Given the description of an element on the screen output the (x, y) to click on. 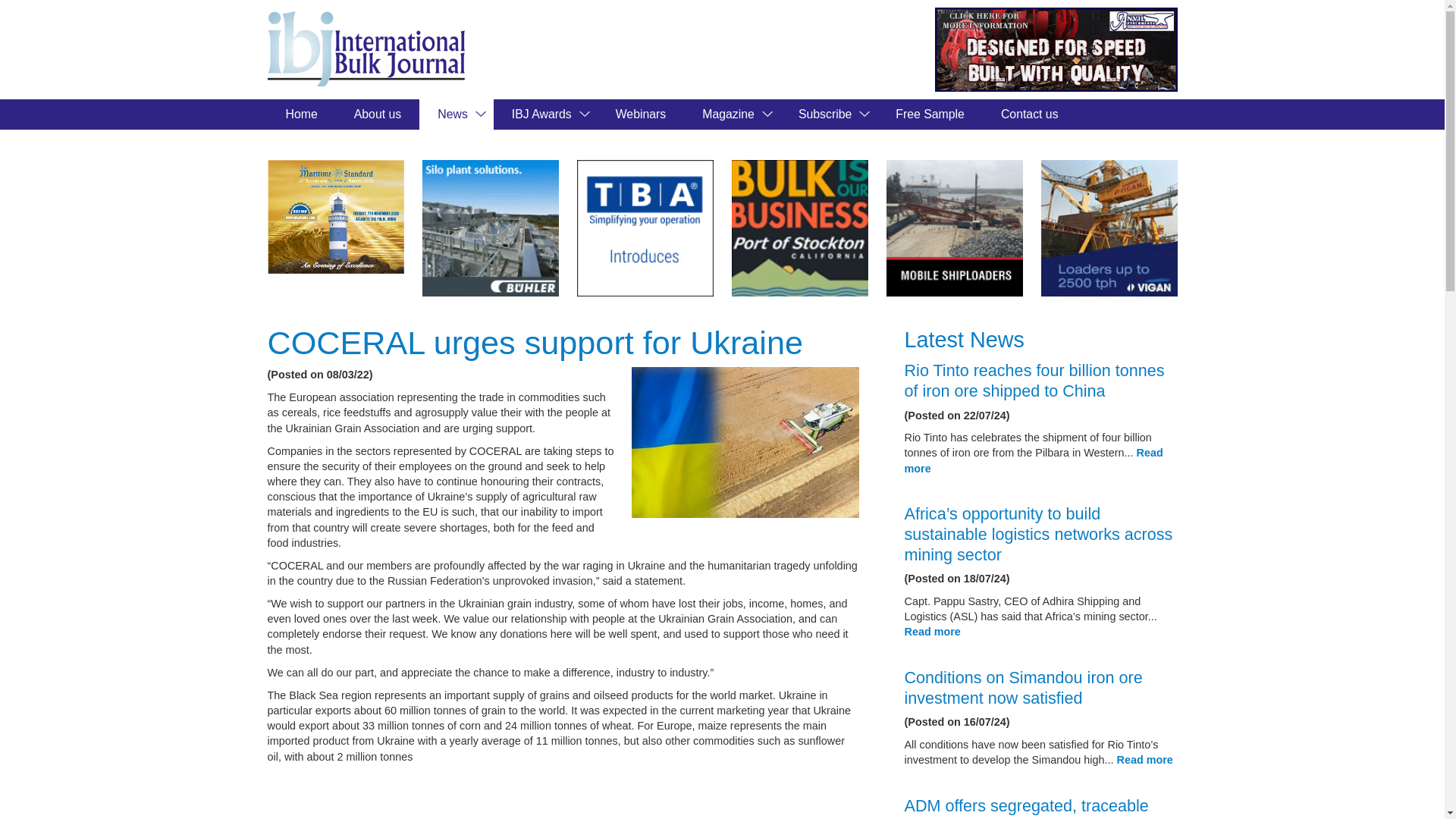
Home (300, 114)
About us (377, 114)
IBJ Awards (544, 114)
News (456, 114)
